Given the description of an element on the screen output the (x, y) to click on. 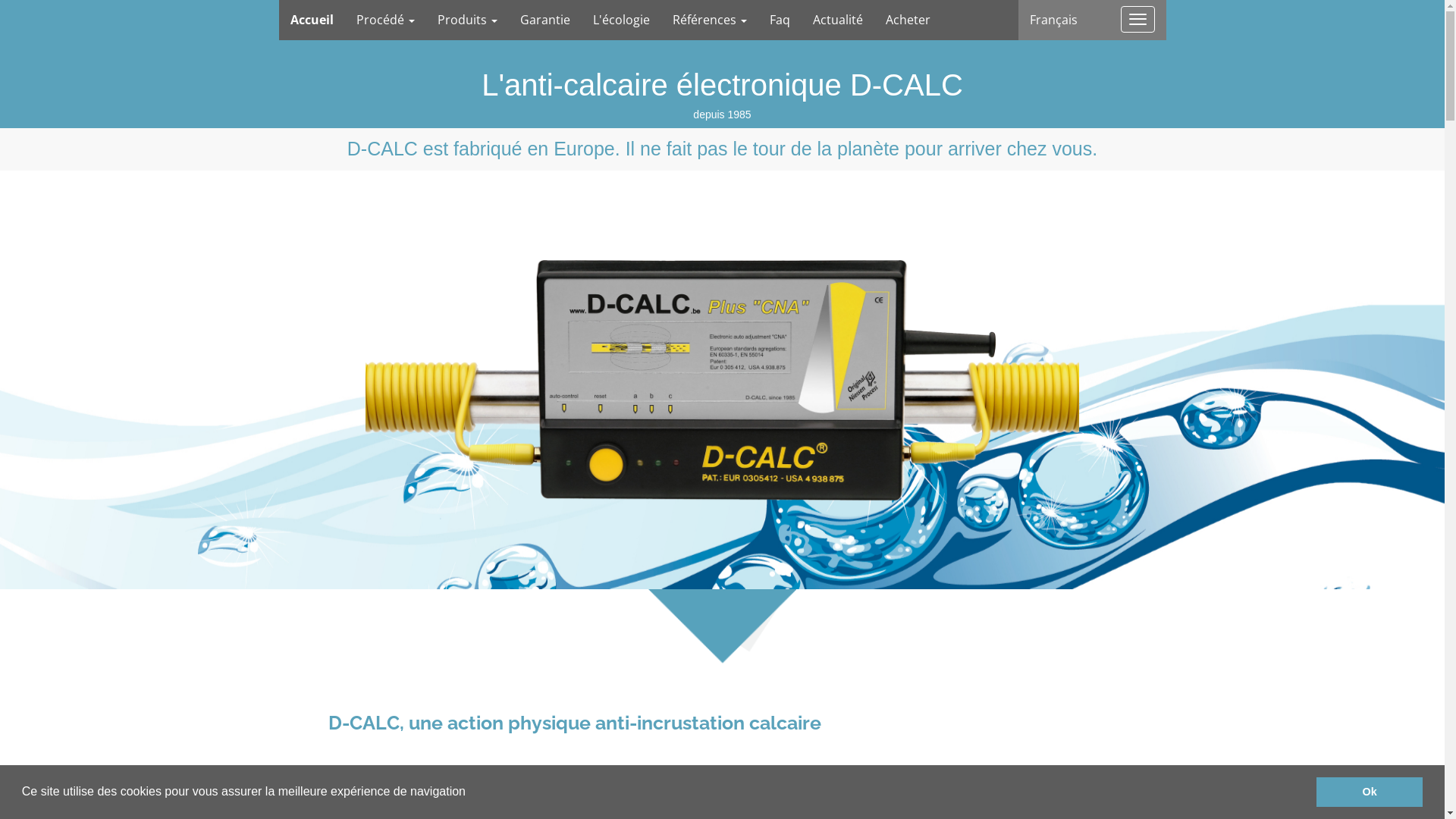
Produits Element type: text (467, 20)
Faq Element type: text (779, 20)
Garantie Element type: text (544, 20)
Ok Element type: text (1369, 791)
Accueil Element type: text (312, 20)
D-CALC Plus pour la maison familiale Element type: hover (722, 380)
Acheter Element type: text (907, 20)
